Given the description of an element on the screen output the (x, y) to click on. 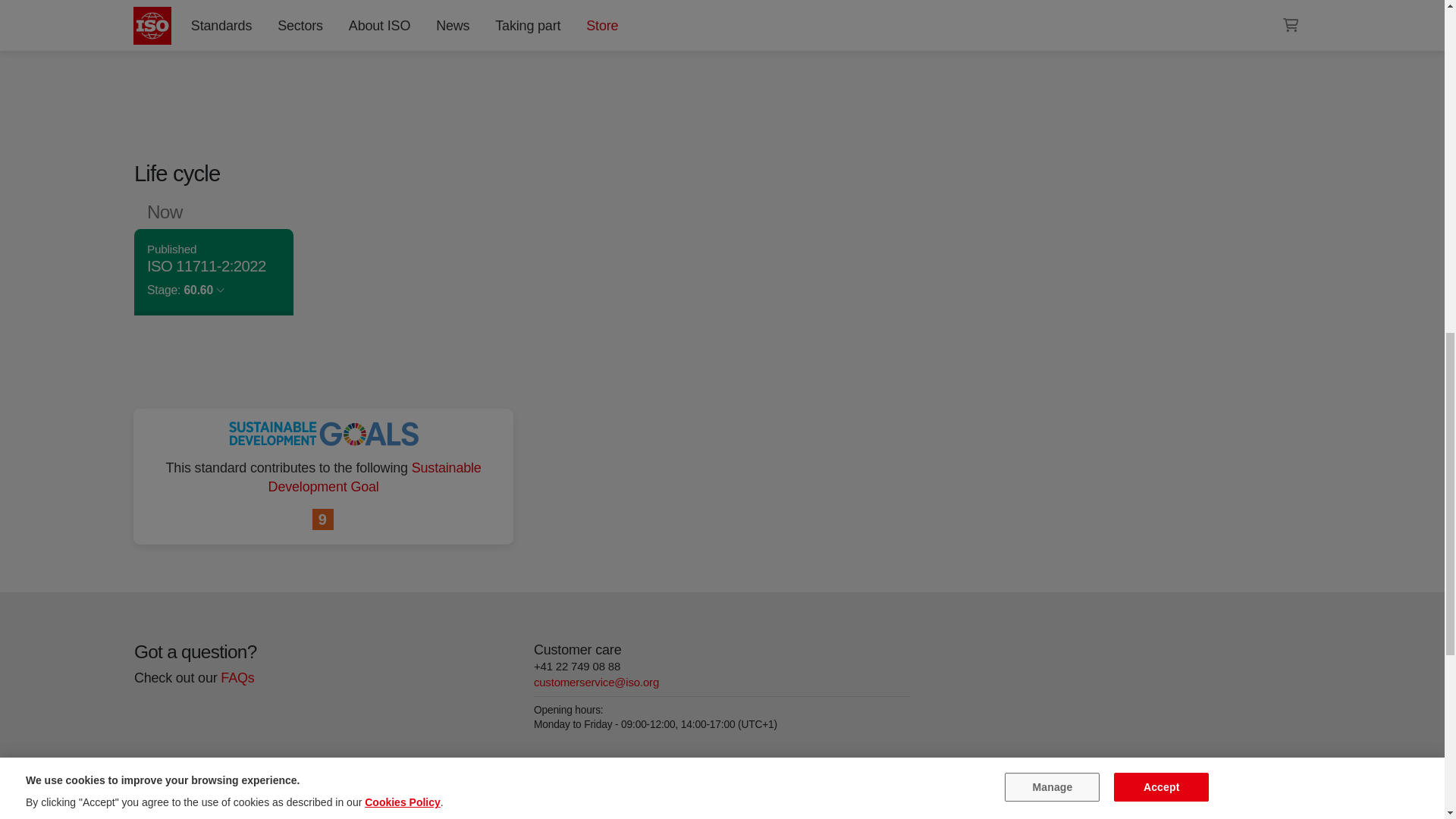
Industry, Innovation and Infrastructure (323, 519)
